Given the description of an element on the screen output the (x, y) to click on. 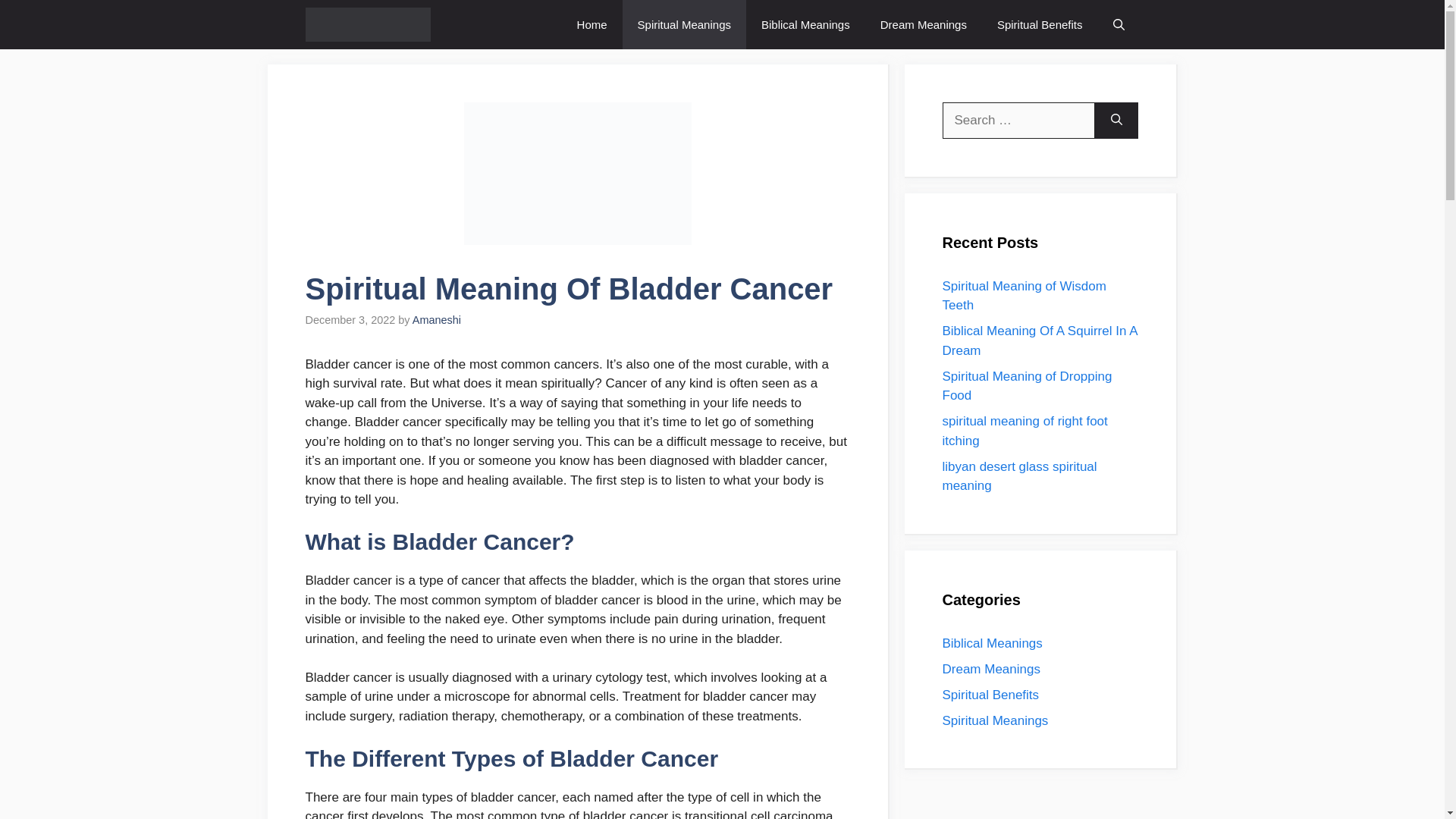
Spiritual Meanings (684, 24)
Spiritual Meanings (995, 719)
Home (592, 24)
Search for: (1018, 120)
Spiritual Learners (367, 24)
Biblical Meanings (804, 24)
Spiritual Benefits (990, 694)
Spiritual Meaning of Dropping Food (1027, 385)
spiritual meaning of right foot itching (1024, 430)
Dream Meanings (922, 24)
Spiritual Meaning of Wisdom Teeth (1023, 295)
View all posts by Amaneshi (436, 319)
Biblical Meaning Of A Squirrel In A Dream (1039, 340)
libyan desert glass spiritual meaning (1019, 476)
Dream Meanings (990, 667)
